Given the description of an element on the screen output the (x, y) to click on. 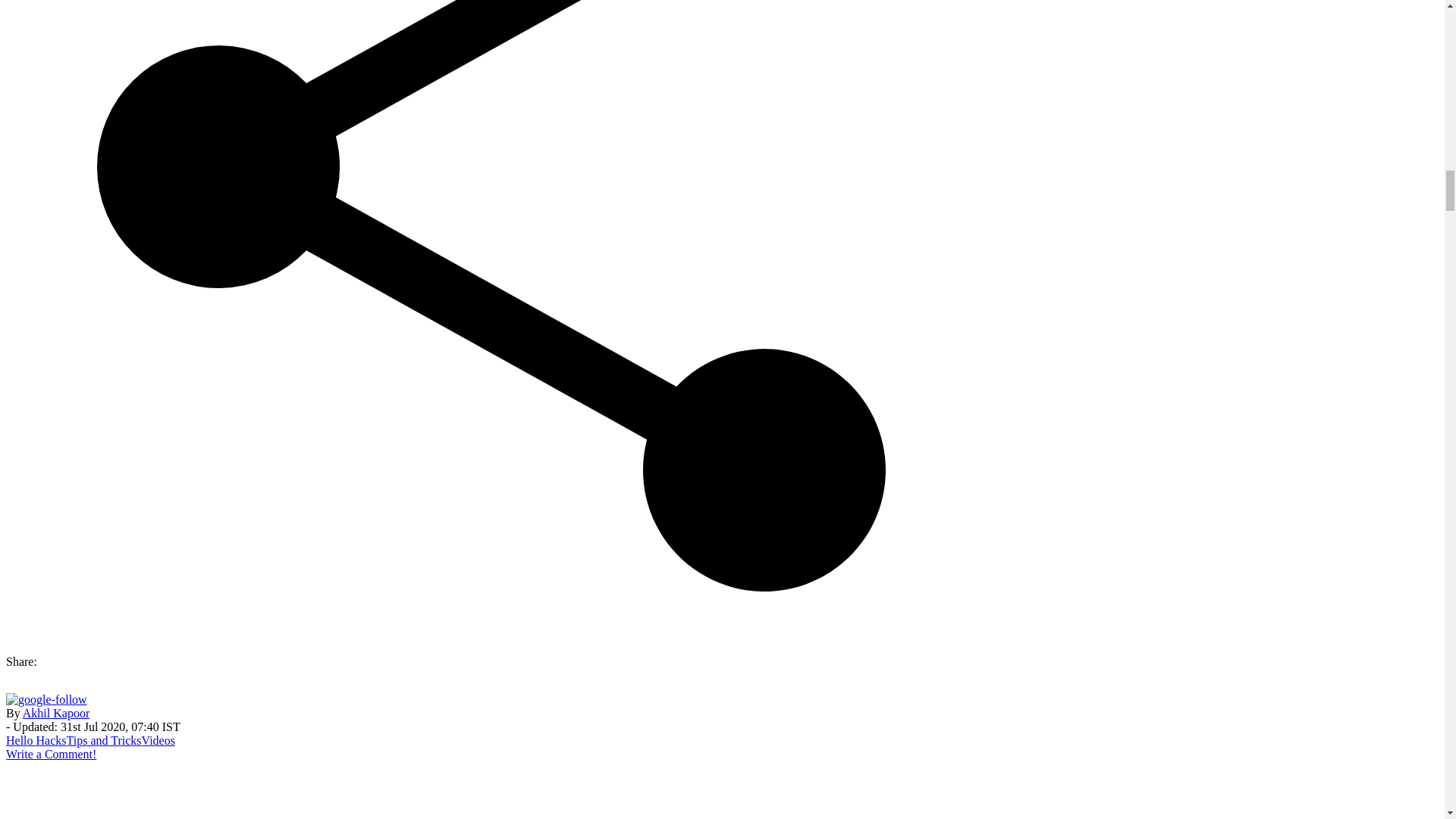
Akhil Kapoor (55, 712)
Tips and Tricks (103, 739)
Hello Hacks (35, 739)
Write a Comment! (50, 753)
Videos (157, 739)
